Given the description of an element on the screen output the (x, y) to click on. 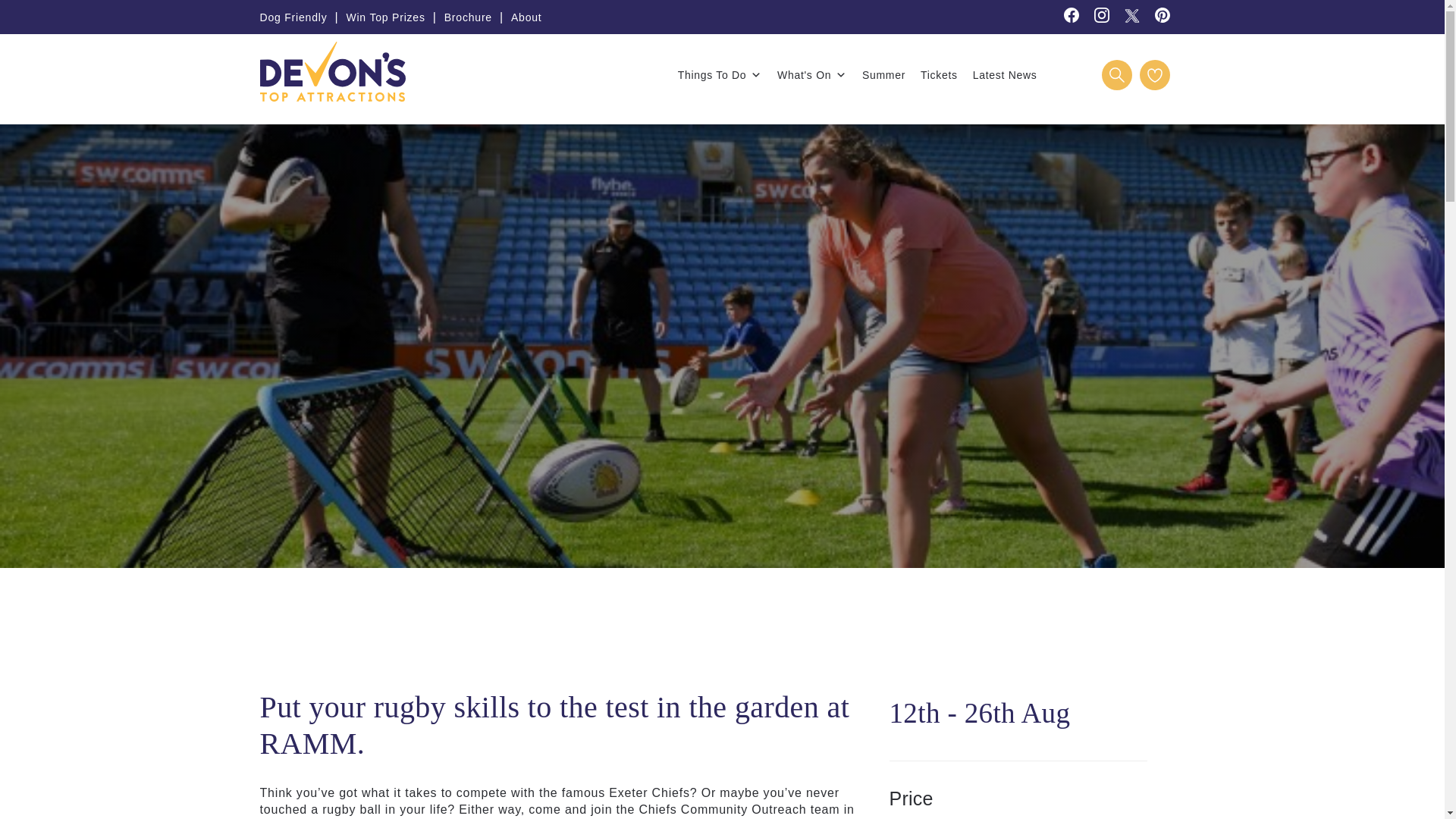
Things To Do (719, 74)
About (526, 16)
Brochure (468, 16)
Win Top Prizes (385, 16)
Dog Friendly (292, 16)
My Favourites (1153, 74)
